Given the description of an element on the screen output the (x, y) to click on. 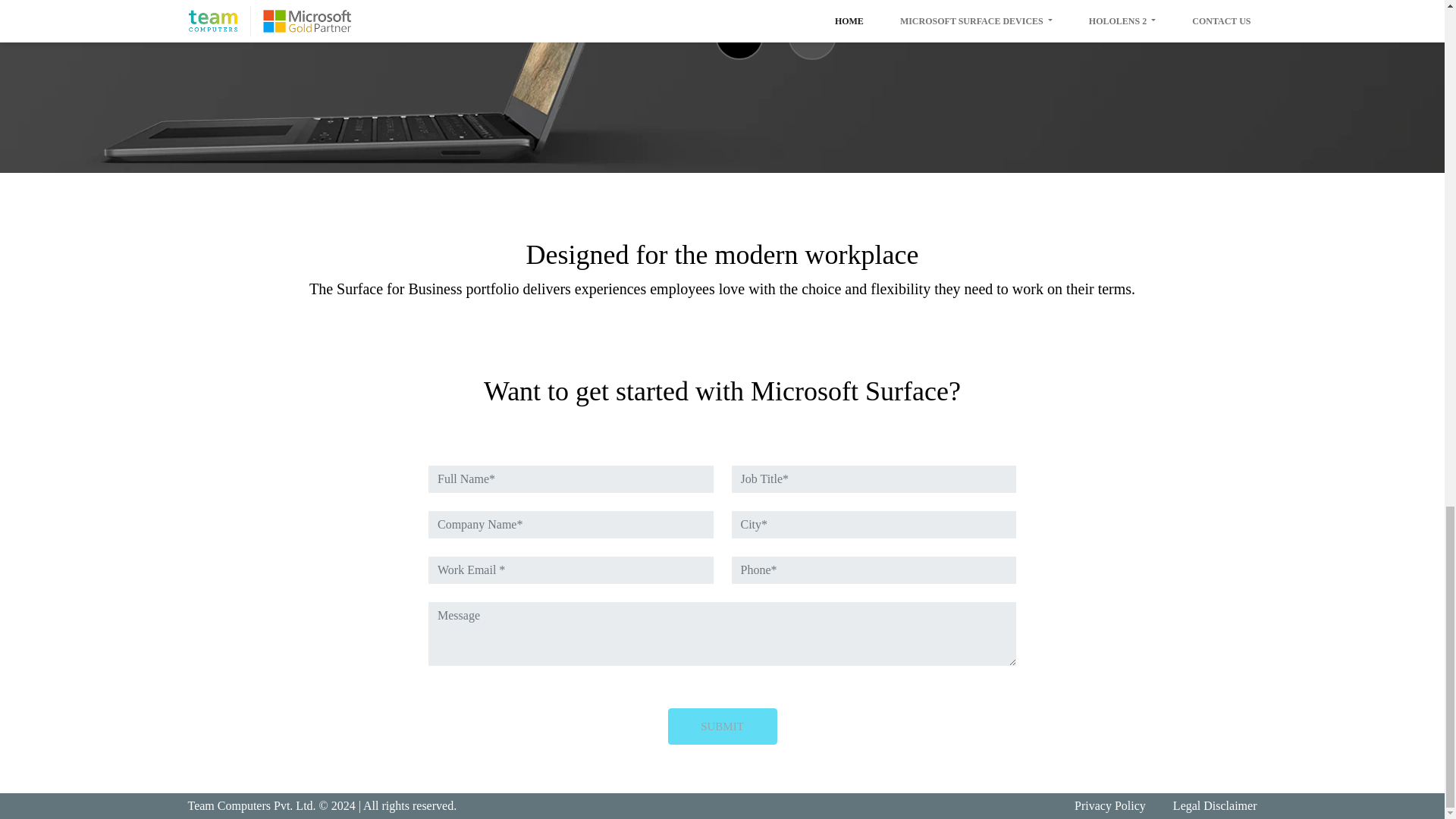
SUBMIT (721, 726)
Privacy Policy (1109, 806)
Legal Disclaimer (1215, 806)
